Given the description of an element on the screen output the (x, y) to click on. 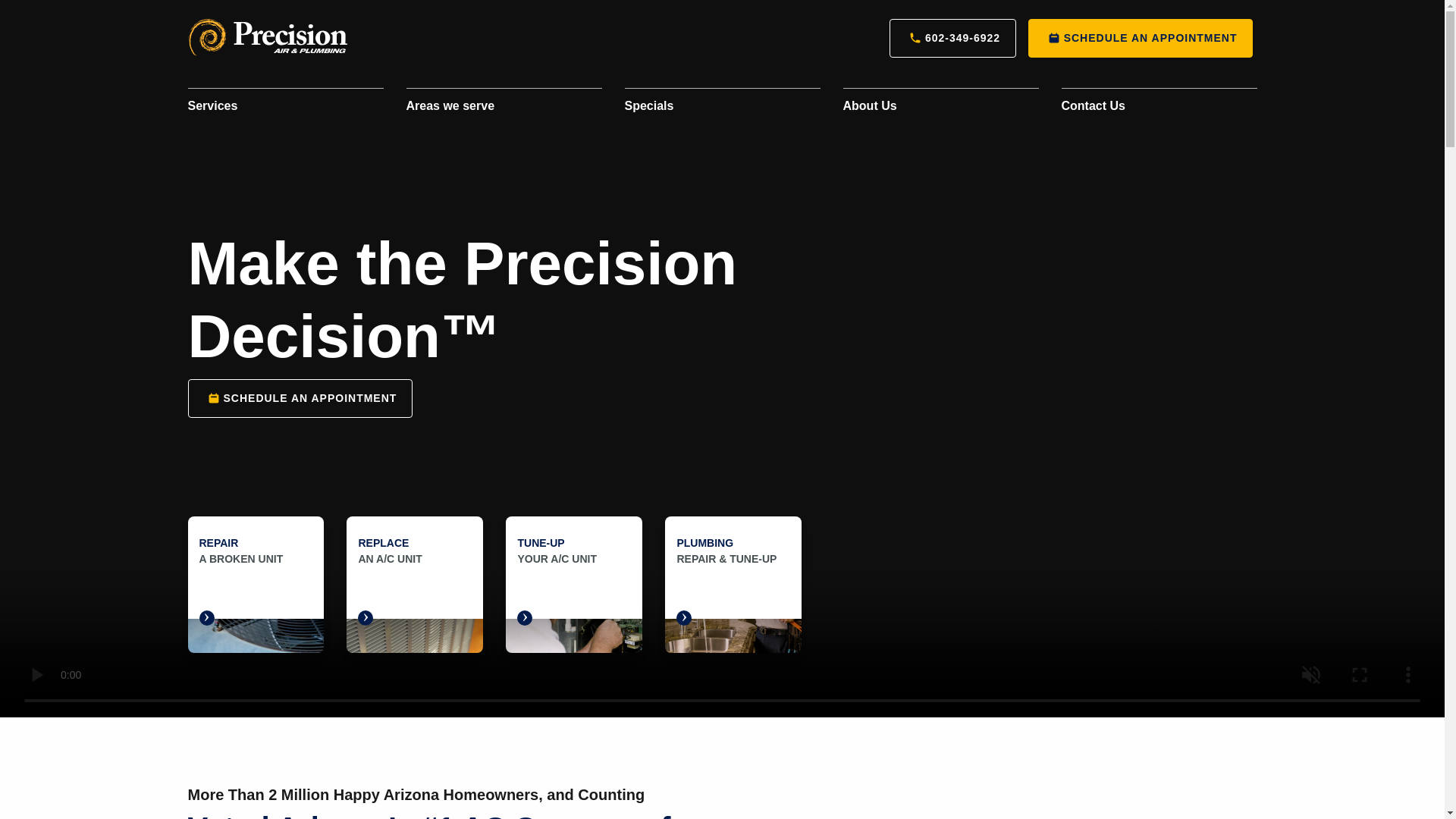
SCHEDULE AN APPOINTMENT (1140, 37)
602-349-6922 (952, 37)
Services (285, 105)
Areas we serve (504, 105)
